Given the description of an element on the screen output the (x, y) to click on. 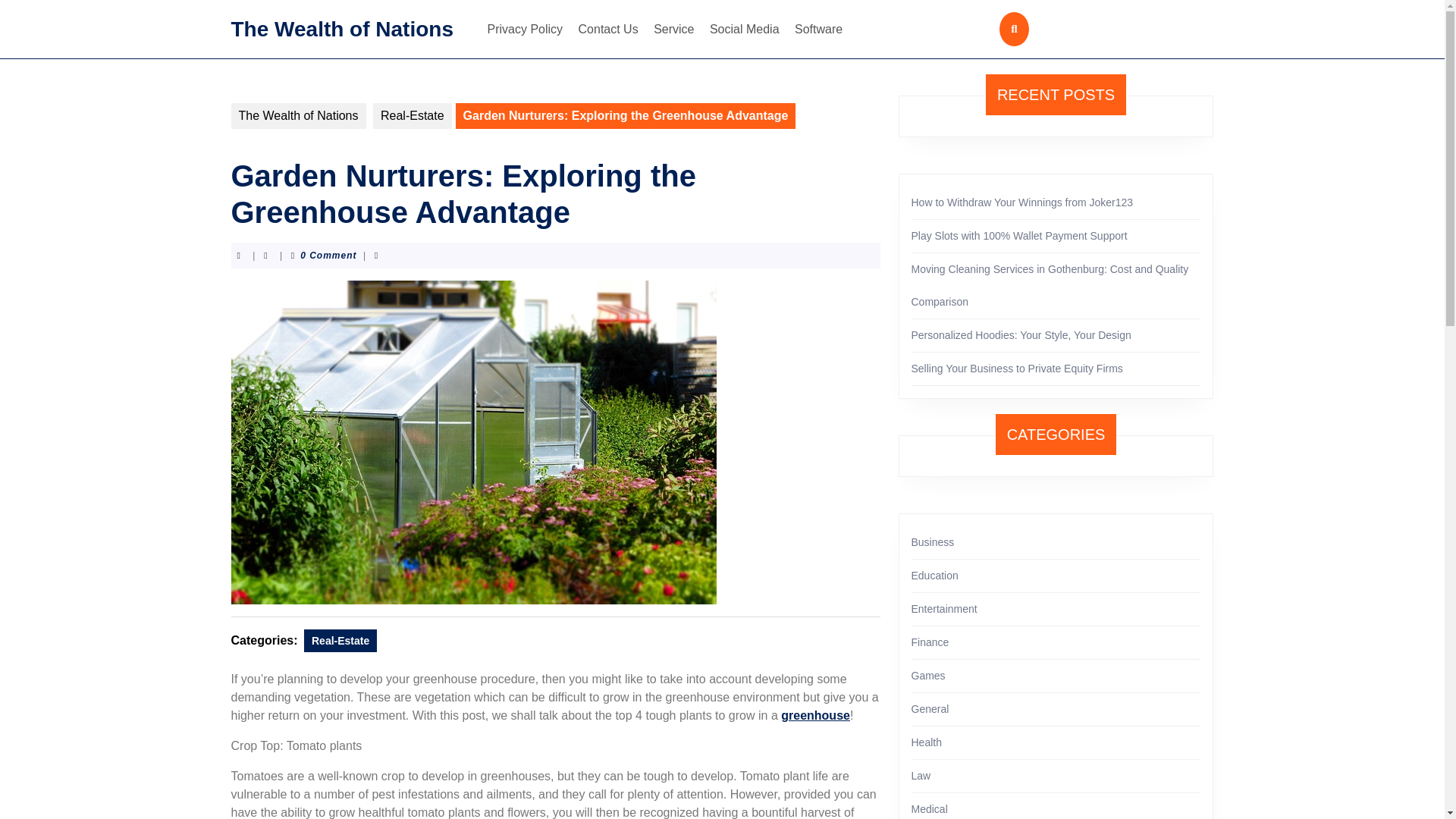
The Wealth of Nations (297, 115)
Real-Estate (340, 640)
Contact Us (608, 28)
The Wealth of Nations (341, 28)
Social Media (744, 28)
Software (818, 28)
Privacy Policy (524, 28)
greenhouse (815, 715)
Business (933, 541)
